Given the description of an element on the screen output the (x, y) to click on. 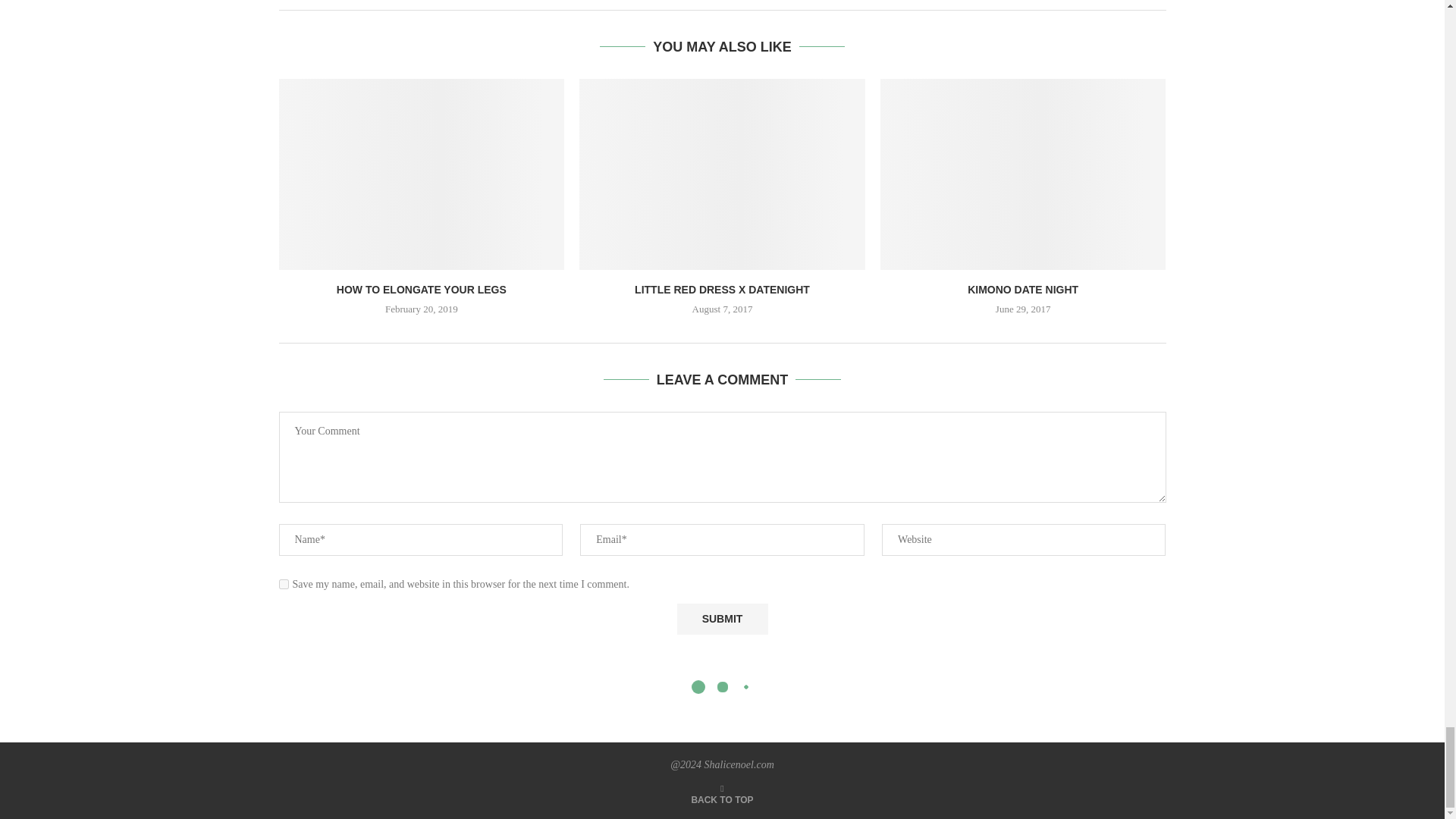
Submit (722, 618)
Kimono Date Night (1023, 173)
yes (283, 583)
HOW TO ELONGATE YOUR LEGS (421, 289)
LITTLE RED DRESS X DATENIGHT (721, 289)
Little Red Dress x Datenight (721, 173)
How to Elongate your Legs (421, 173)
KIMONO DATE NIGHT (1023, 289)
